Given the description of an element on the screen output the (x, y) to click on. 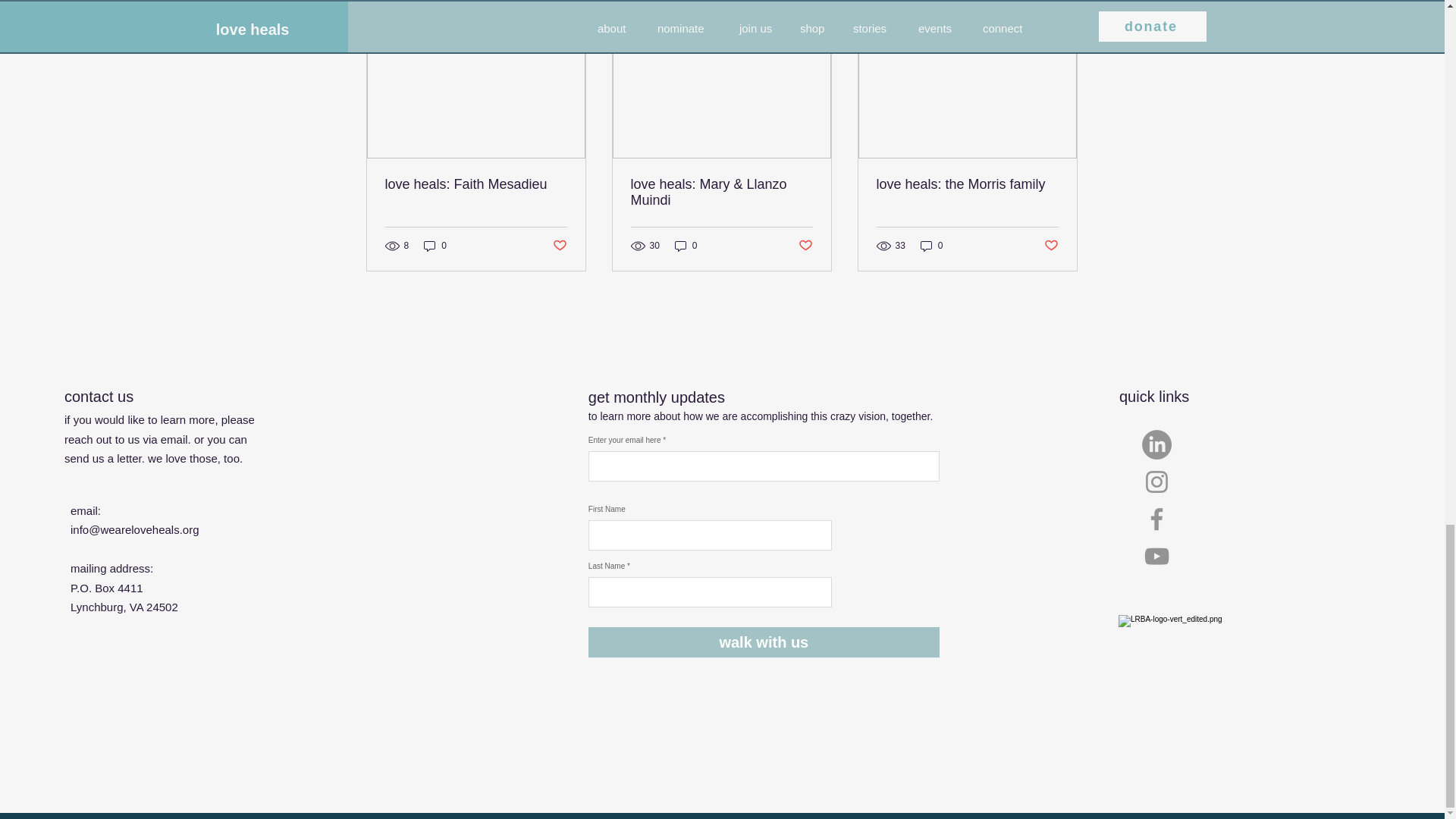
Post not marked as liked (804, 245)
0 (435, 246)
Post not marked as liked (558, 245)
Post not marked as liked (1050, 245)
love heals: the Morris family (967, 184)
0 (931, 246)
love heals: Faith Mesadieu (476, 184)
0 (685, 246)
See All (1061, 9)
walk with us (763, 642)
